Given the description of an element on the screen output the (x, y) to click on. 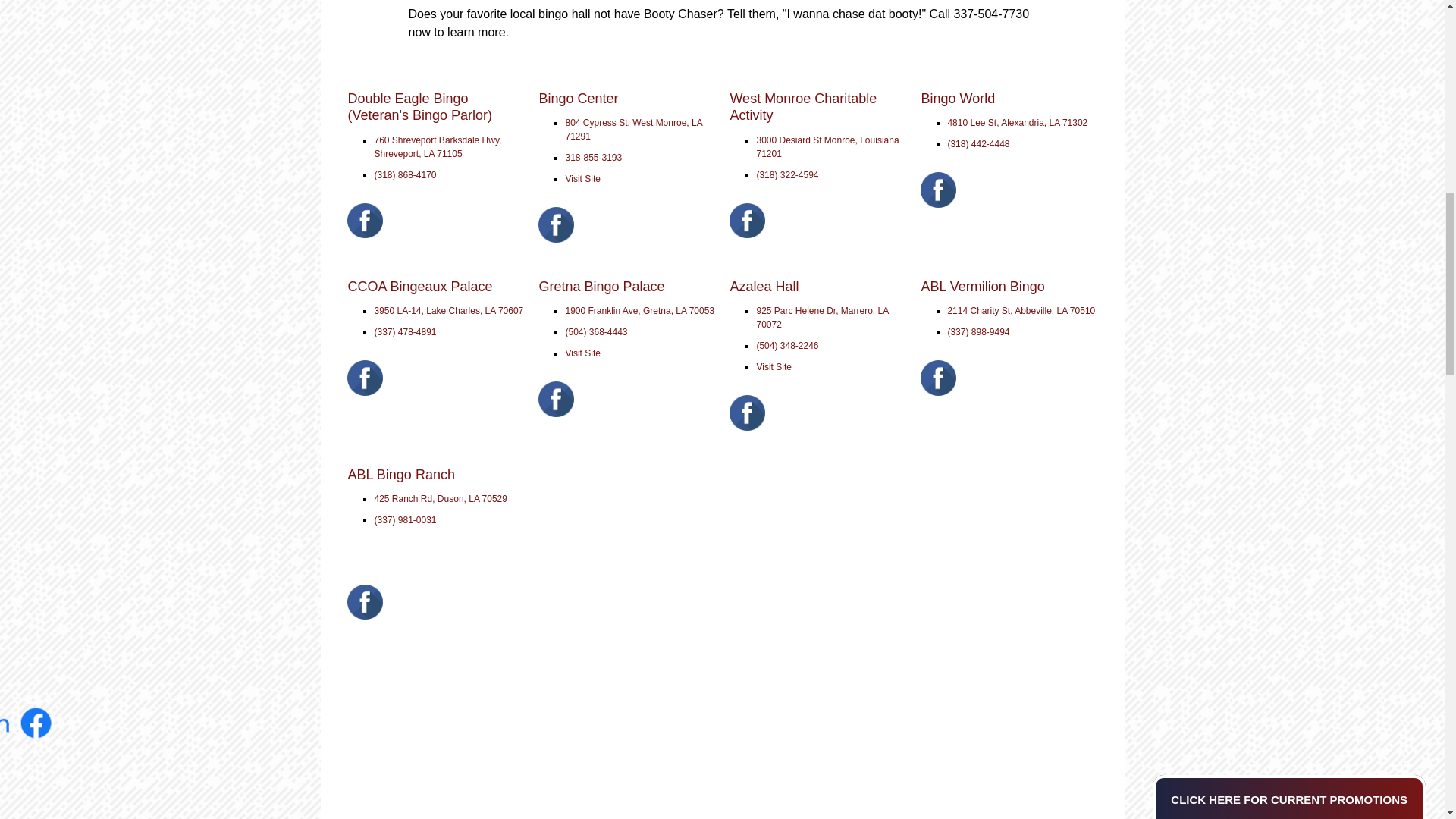
3000 Desiard St Monroe, Louisiana 71201 (826, 146)
3950 LA-14, Lake Charles, LA 70607 (448, 310)
760 Shreveport Barksdale Hwy, Shreveport, LA 71105 (437, 146)
318-855-3193 (592, 157)
Visit Site (581, 178)
804 Cypress St, West Monroe, LA 71291 (632, 129)
4810 Lee St, Alexandria, LA 71302 (1017, 122)
